Given the description of an element on the screen output the (x, y) to click on. 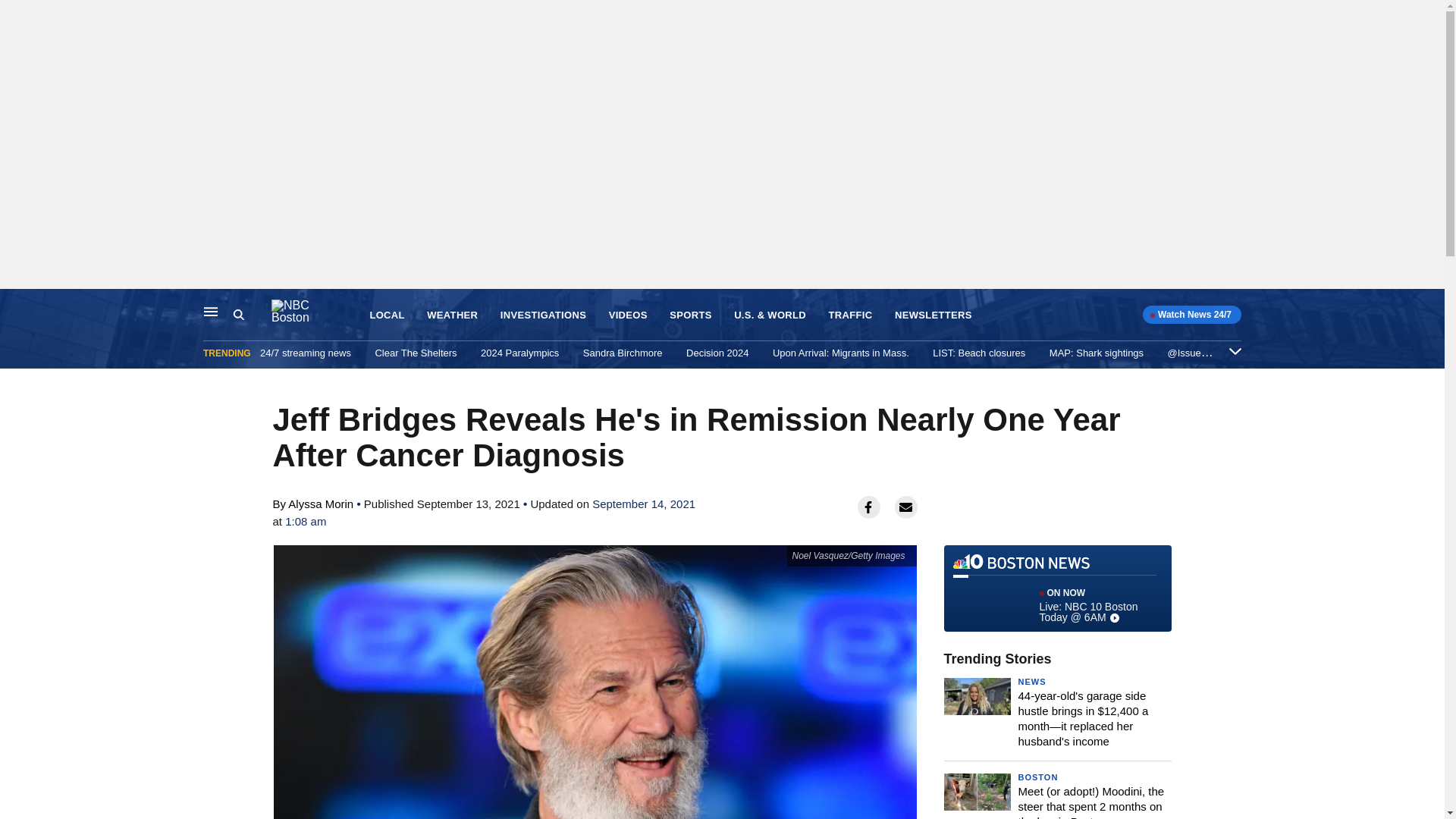
INVESTIGATIONS (543, 315)
TRAFFIC (850, 315)
VIDEOS (627, 315)
Clear The Shelters (415, 352)
Search (252, 314)
Search (238, 314)
NEWSLETTERS (933, 315)
Sandra Birchmore (622, 352)
Expand (1234, 350)
SPORTS (690, 315)
